Given the description of an element on the screen output the (x, y) to click on. 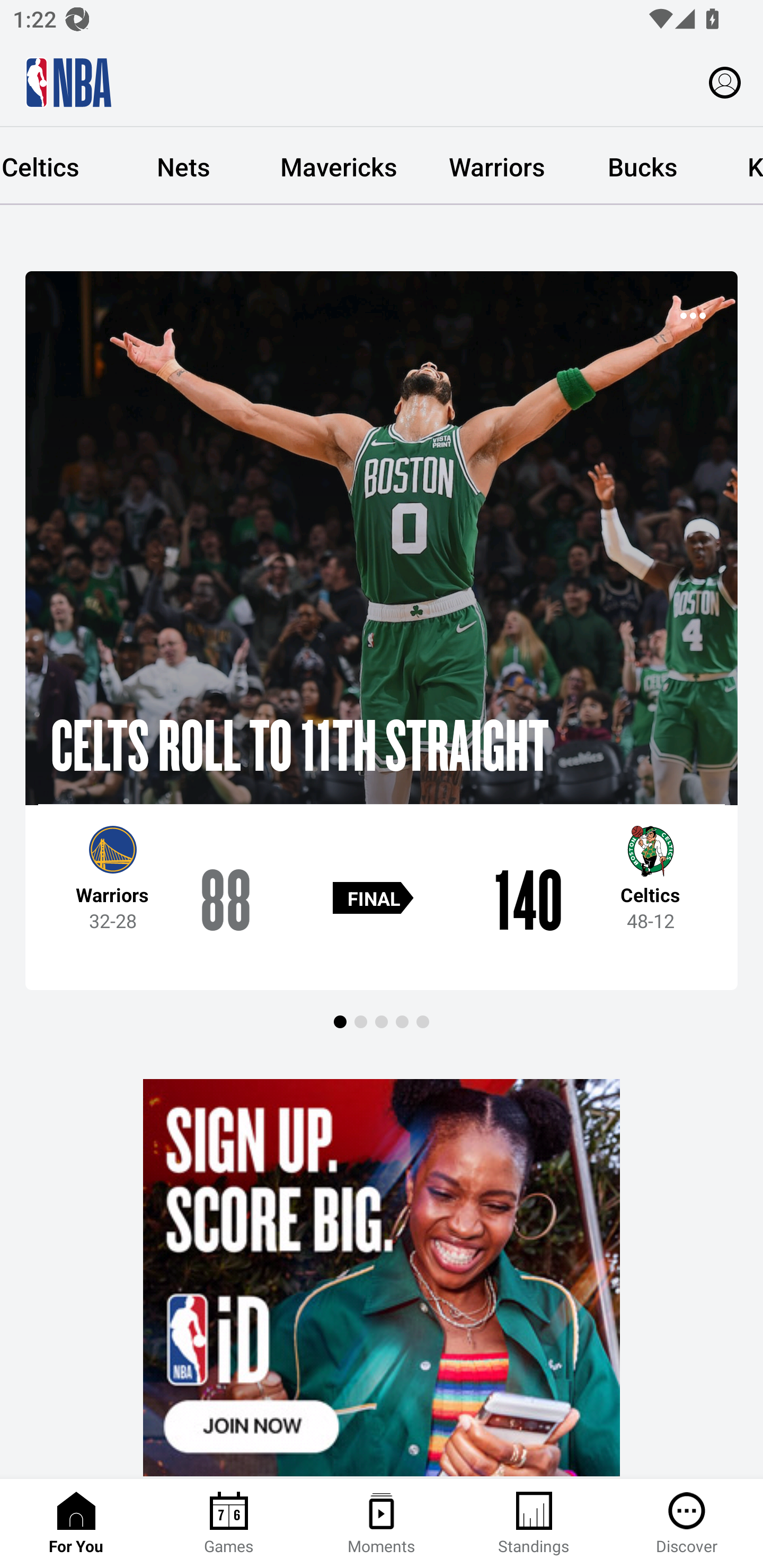
Profile (724, 81)
Celtics (56, 166)
Nets (183, 166)
Mavericks (338, 166)
Warriors (497, 166)
Bucks (642, 166)
Games (228, 1523)
Moments (381, 1523)
Standings (533, 1523)
Discover (686, 1523)
